Given the description of an element on the screen output the (x, y) to click on. 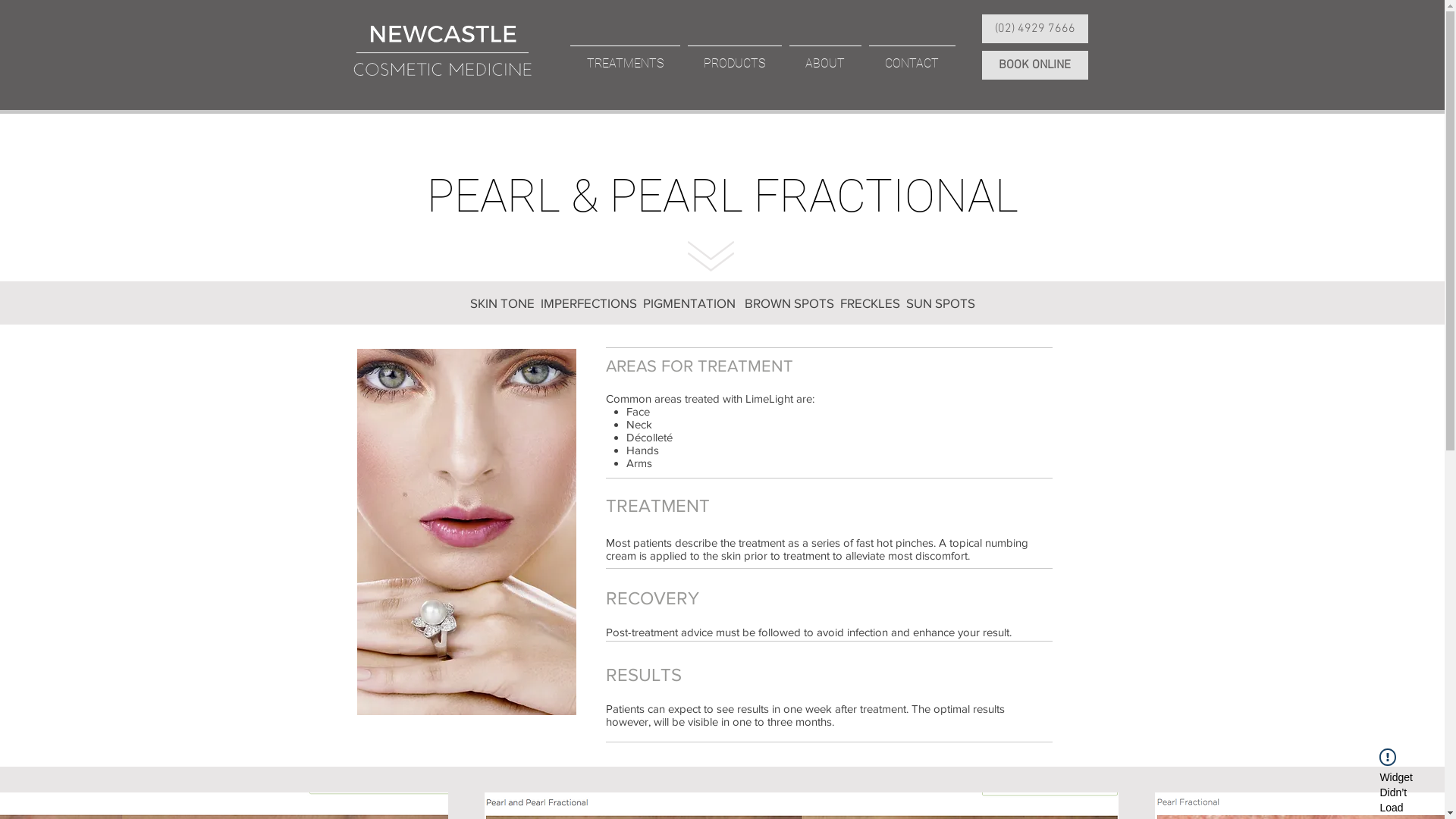
BOOK ONLINE Element type: text (1034, 65)
CONTACT Element type: text (911, 56)
ABOUT Element type: text (825, 56)
TREATMENTS Element type: text (624, 56)
(02) 4929 7666 Element type: text (1034, 28)
PRODUCTS Element type: text (734, 56)
